Given the description of an element on the screen output the (x, y) to click on. 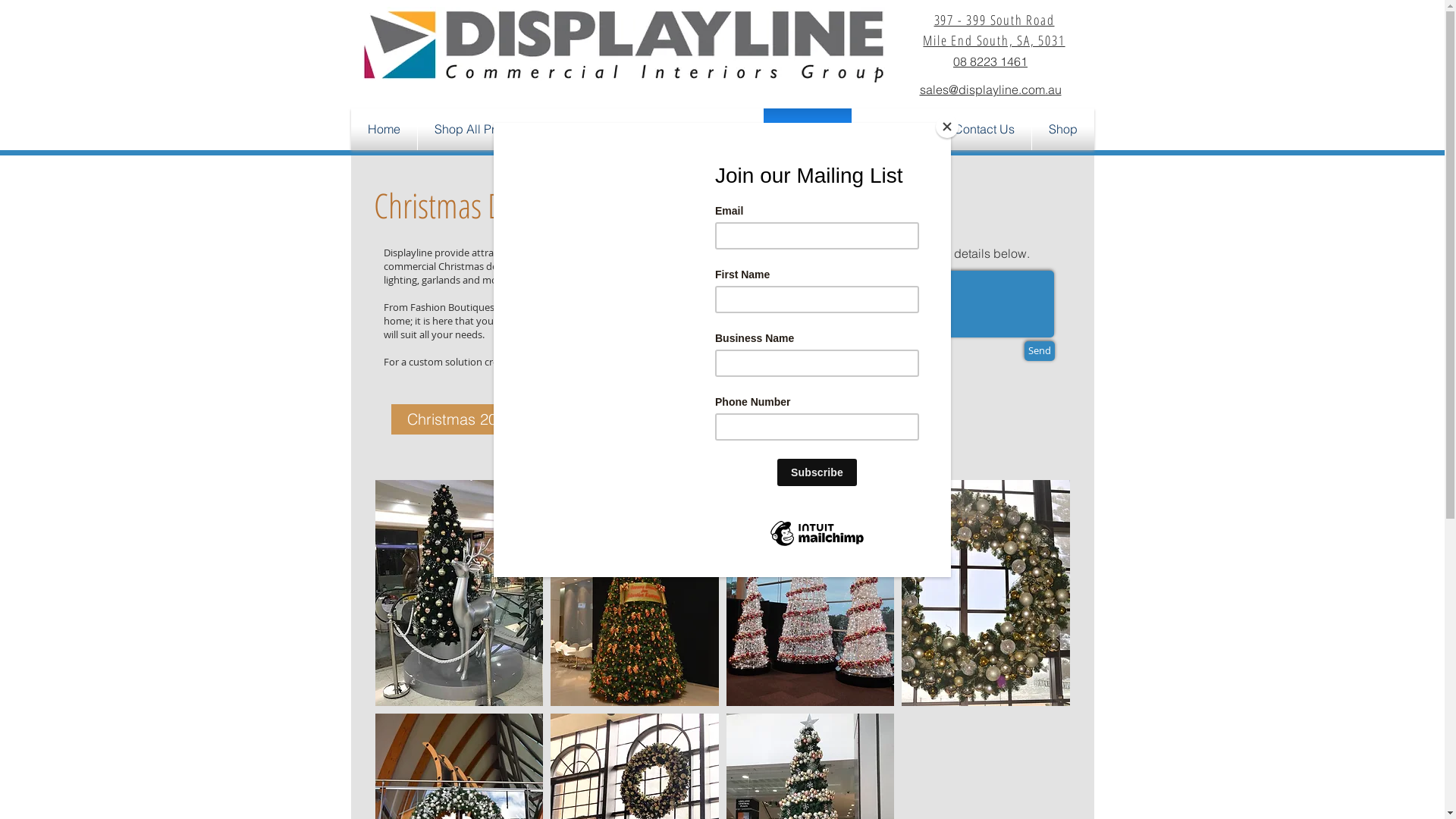
About Us Element type: text (894, 129)
Home Element type: text (383, 129)
Contact Us Element type: text (984, 129)
Christmas 2023 Brochure Element type: text (493, 418)
397 - 399 South Road
Mile End South, SA, 5031 Element type: text (993, 29)
sales@displayline.com.au Element type: text (989, 89)
Send Element type: text (1038, 350)
Joinery Element type: text (726, 129)
Christmas Element type: text (806, 129)
MAXe Element type: text (582, 129)
Peggie Element type: text (651, 129)
08 8223 1461 Element type: text (990, 61)
Shop Element type: text (1062, 129)
Shop All Products Element type: text (482, 129)
